Given the description of an element on the screen output the (x, y) to click on. 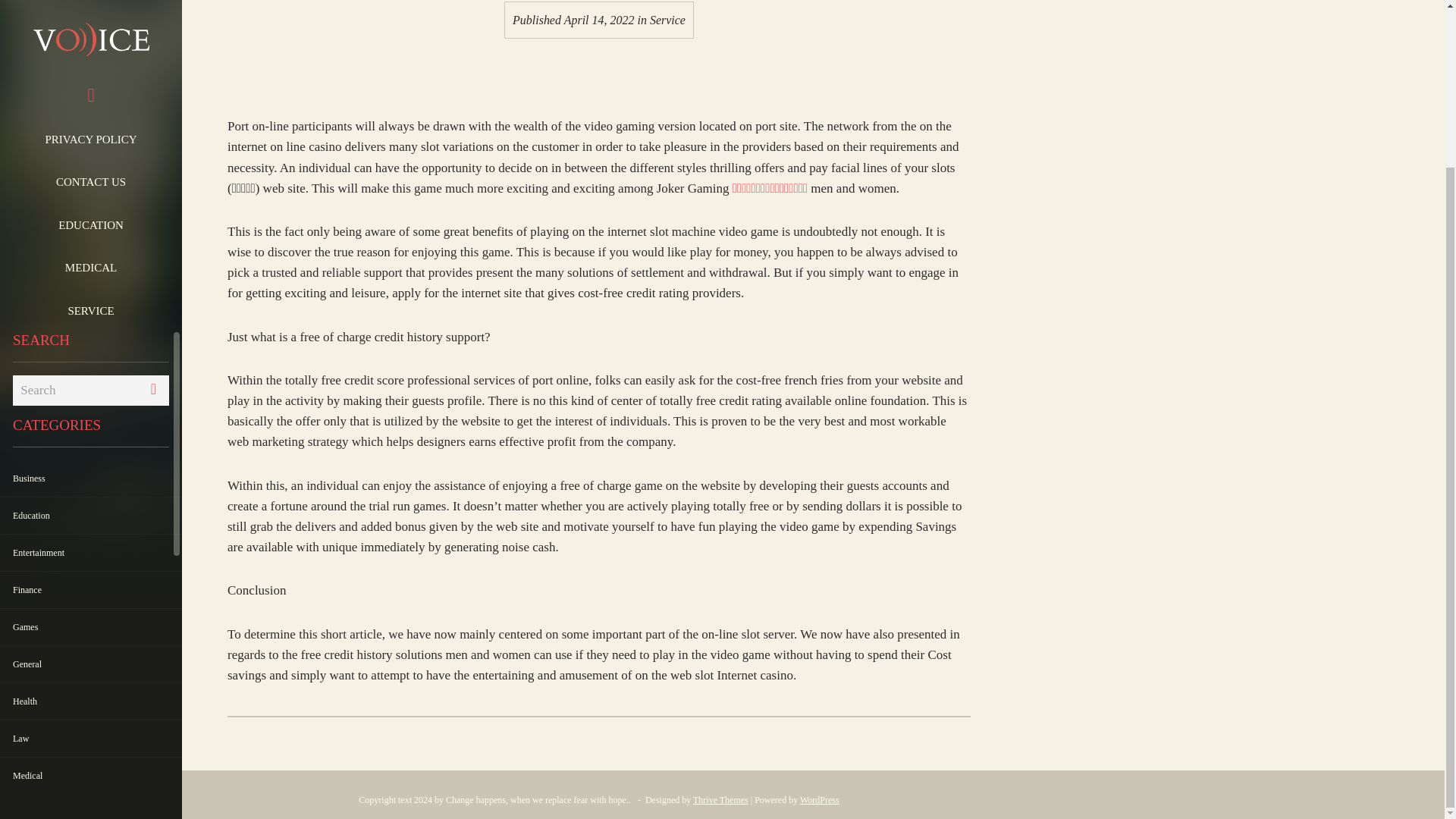
MEDICAL (91, 66)
Service (667, 19)
SERVICE (91, 110)
Finance (27, 389)
EDUCATION (91, 24)
General (27, 463)
Law (21, 538)
Business (29, 277)
The Different Types of Tea and Their Benefits (90, 786)
Medical (27, 575)
Social Media (37, 686)
Education (31, 315)
Entertainment (38, 352)
WordPress (819, 799)
Real-Estate (34, 612)
